Given the description of an element on the screen output the (x, y) to click on. 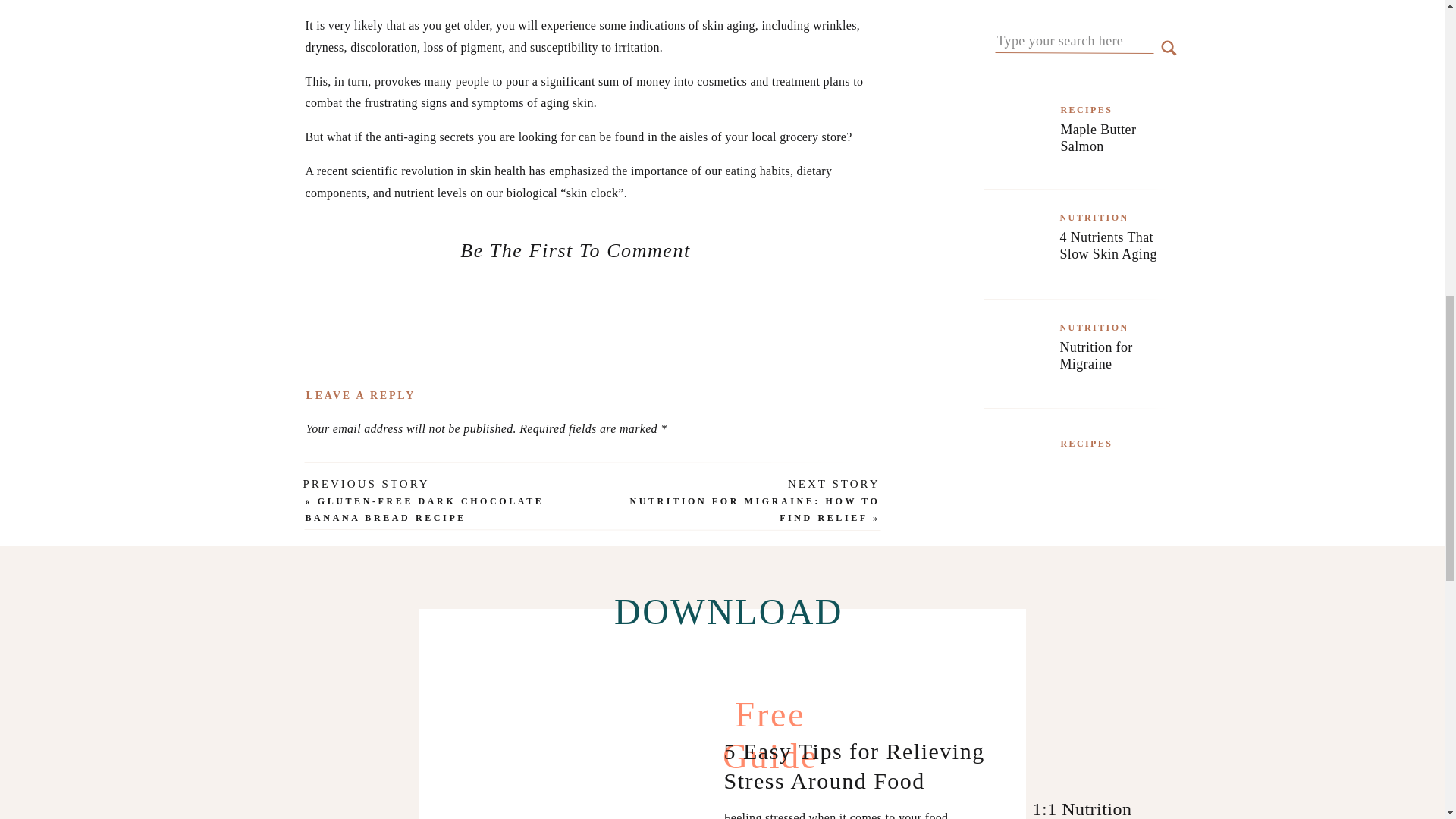
Nutrition for Migraine (1111, 372)
Maple Butter Salmon (1111, 155)
Apple Cider and Ginger Mocktail (1111, 488)
Be The First To Comment (575, 250)
NUTRITION FOR MIGRAINE: HOW TO FIND RELIEF (753, 509)
increased levels of carotenoid contents (457, 809)
GLUTEN-FREE DARK CHOCOLATE BANANA BREAD RECIPE (423, 509)
Andy De Santis. (650, 350)
